Given the description of an element on the screen output the (x, y) to click on. 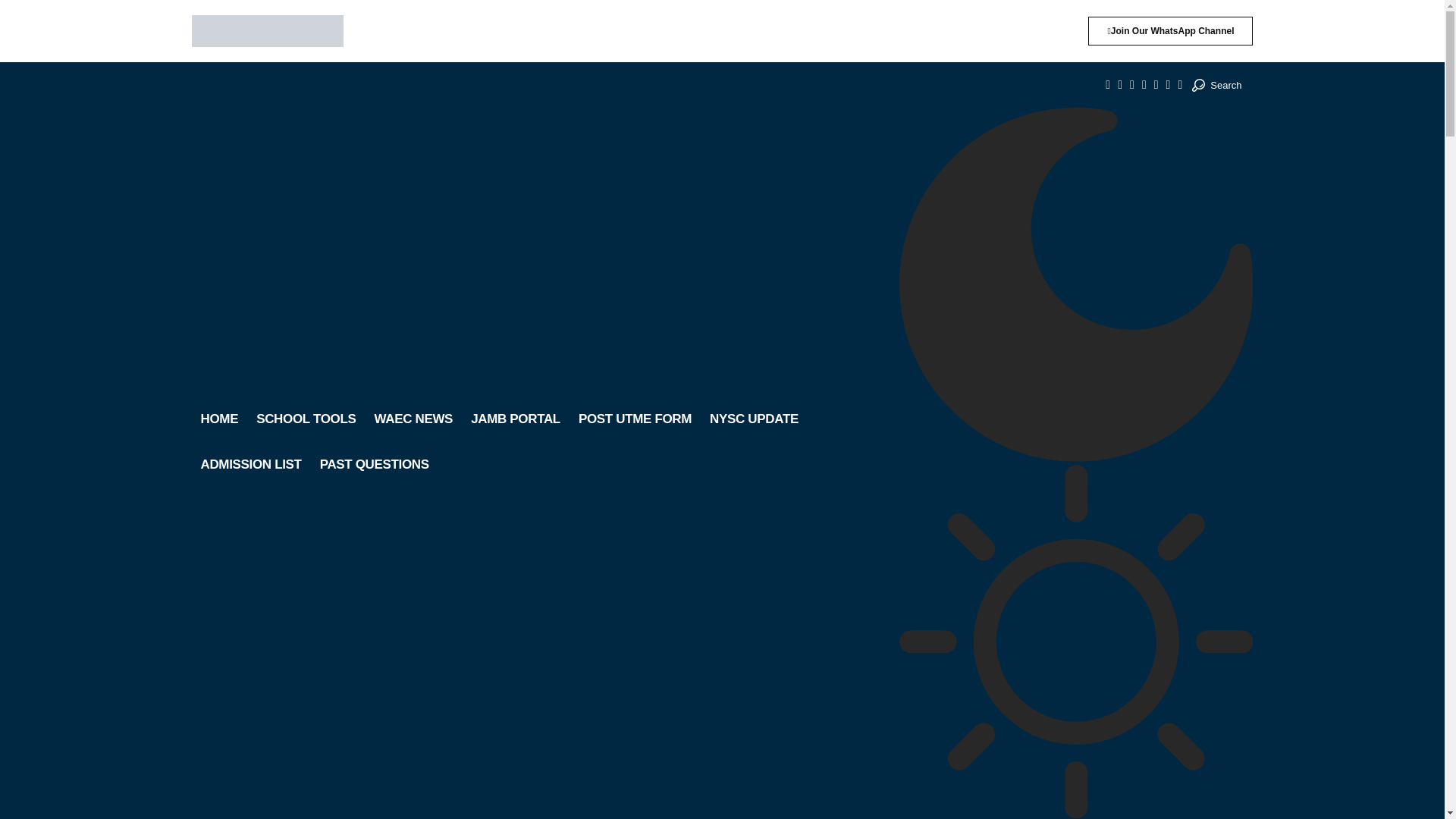
Join Our WhatsApp Channel (1169, 30)
PAST QUESTIONS (374, 464)
HOME (218, 419)
SCHOOL TOOLS (306, 419)
ADMISSION LIST (250, 464)
NYSC UPDATE (754, 419)
POST UTME FORM (634, 419)
Search (1216, 84)
WAEC NEWS (413, 419)
JAMB PORTAL (515, 419)
